Given the description of an element on the screen output the (x, y) to click on. 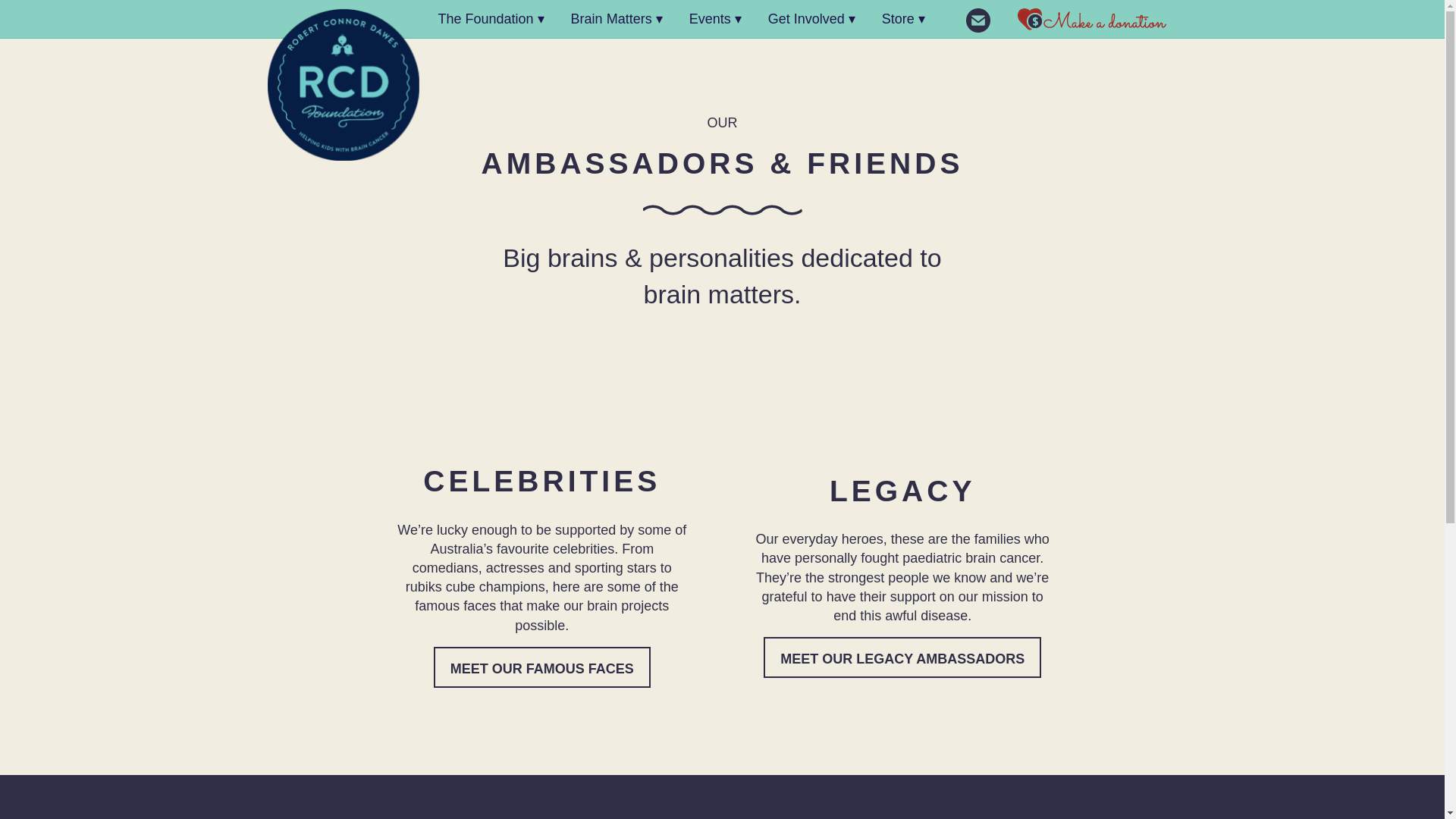
Contact us (978, 20)
Make a donation (1091, 19)
MEET OUR LEGACY AMBASSADORS (901, 657)
MEET OUR FAMOUS FACES (541, 667)
